Given the description of an element on the screen output the (x, y) to click on. 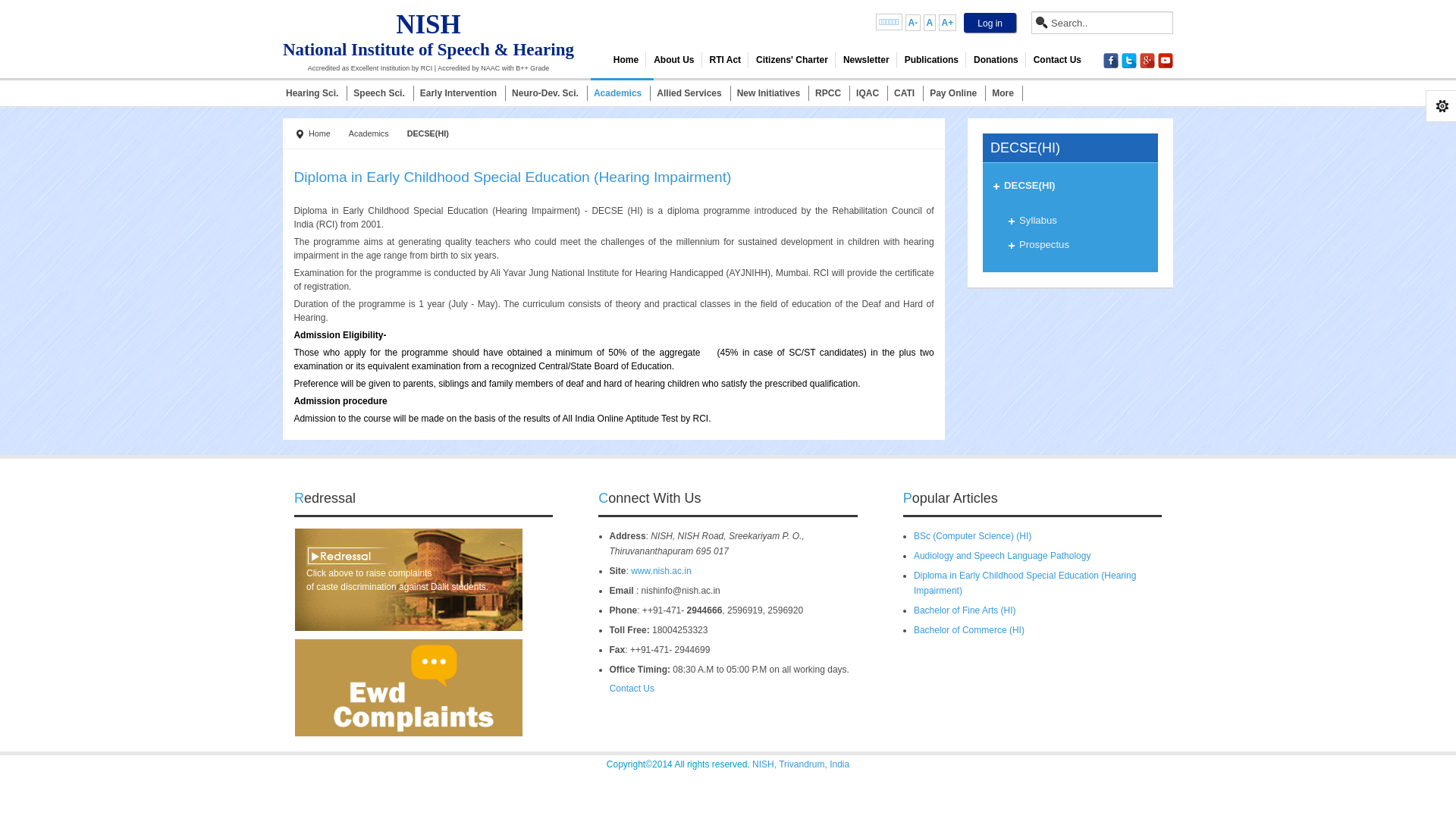
Speech Language Sciences (383, 90)
Home (626, 59)
Contact Us (1056, 59)
Citizens' Charter (791, 59)
Speech Sci. (383, 90)
YouTube (1165, 60)
Neuro Sciences (549, 90)
Early Intervention  (462, 90)
Twitter (1129, 60)
Newsletter (865, 59)
Others (1007, 90)
Publications (930, 59)
Facebook (1110, 60)
Hearing Sci. (316, 90)
RTI Act (724, 59)
